Given the description of an element on the screen output the (x, y) to click on. 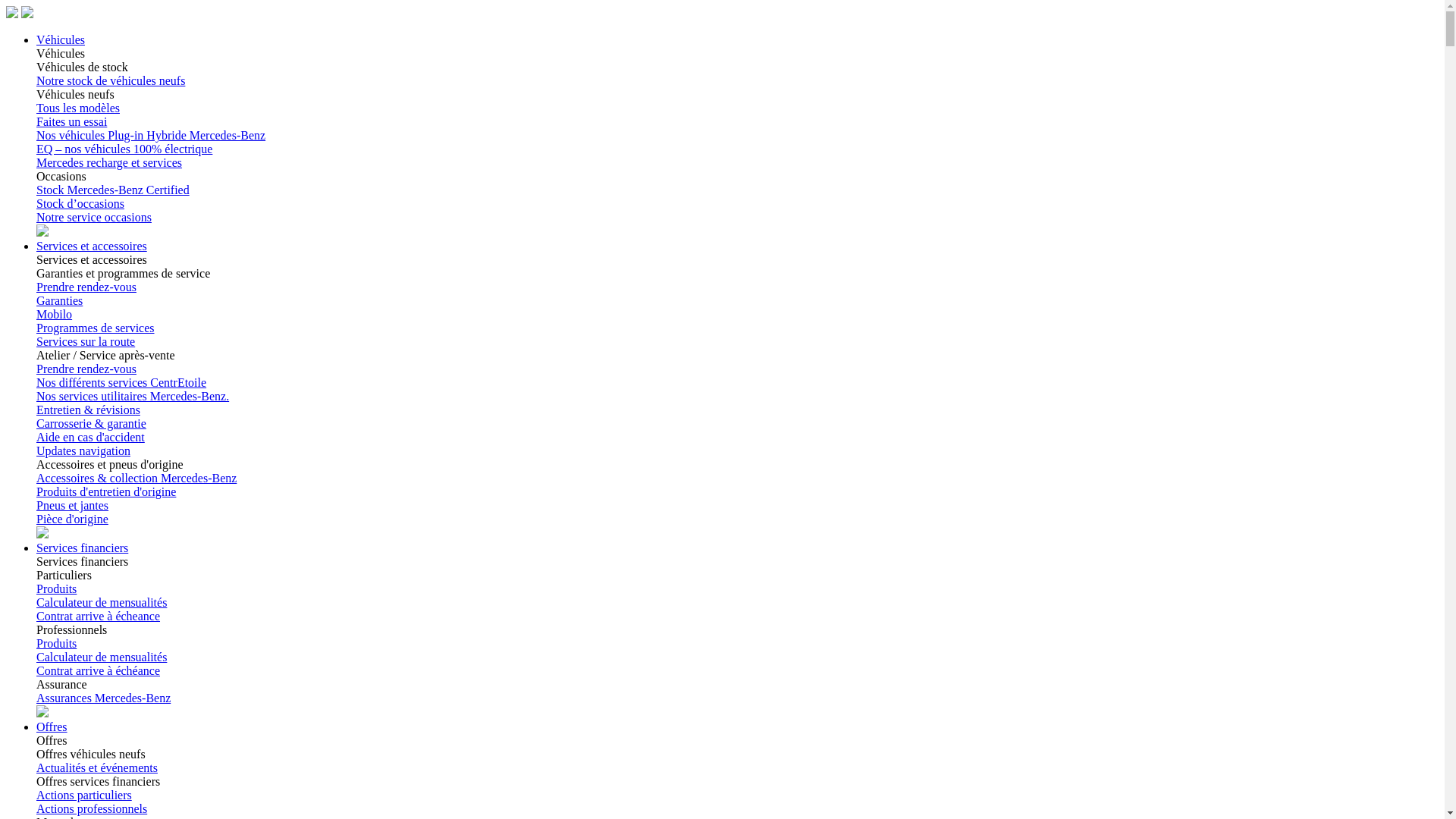
Actions professionnels Element type: text (91, 808)
Services et accessoires Element type: text (91, 245)
Services financiers Element type: text (82, 547)
Mercedes recharge et services Element type: text (109, 162)
Faites un essai Element type: text (71, 121)
Updates navigation Element type: text (83, 450)
Produits Element type: text (56, 643)
Produits Element type: text (56, 588)
Pneus et jantes Element type: text (72, 504)
Mobilo Element type: text (54, 313)
Accessoires & collection Mercedes-Benz Element type: text (136, 477)
Stock Mercedes-Benz Certified Element type: text (112, 189)
Garanties Element type: text (59, 300)
Assurances Mercedes-Benz Element type: text (103, 697)
Services sur la route Element type: text (85, 341)
Actions particuliers Element type: text (83, 794)
Programmes de services Element type: text (95, 327)
Notre service occasions Element type: text (93, 216)
Prendre rendez-vous Element type: text (86, 286)
Produits d'entretien d'origine Element type: text (105, 491)
Nos services utilitaires Mercedes-Benz. Element type: text (132, 395)
Offres Element type: text (51, 726)
Prendre rendez-vous Element type: text (86, 368)
Aide en cas d'accident Element type: text (90, 436)
Carrosserie & garantie Element type: text (91, 423)
